Given the description of an element on the screen output the (x, y) to click on. 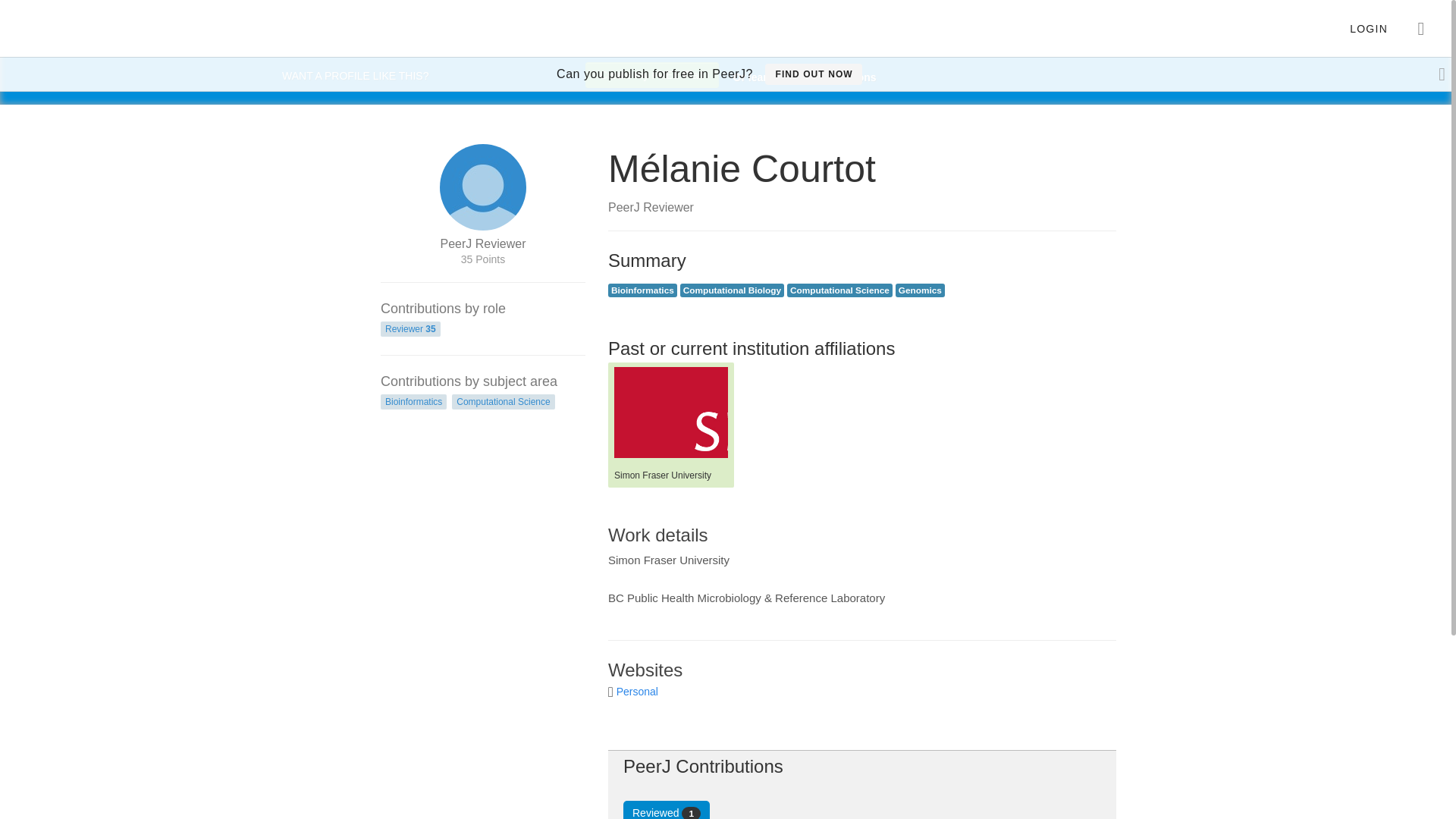
Computational Biology (731, 290)
Computational Science (839, 290)
Genomics (920, 290)
Or learn about other options (804, 77)
Personal (636, 691)
Reviewed 1 (666, 809)
Simon Fraser University (671, 411)
Create my FREE Plan (652, 74)
Personal (636, 691)
Bioinformatics (642, 290)
Bioinformatics (413, 401)
Reviewer 35 (410, 328)
FIND OUT NOW (813, 74)
Computational Science (502, 401)
LOGIN (1368, 28)
